Given the description of an element on the screen output the (x, y) to click on. 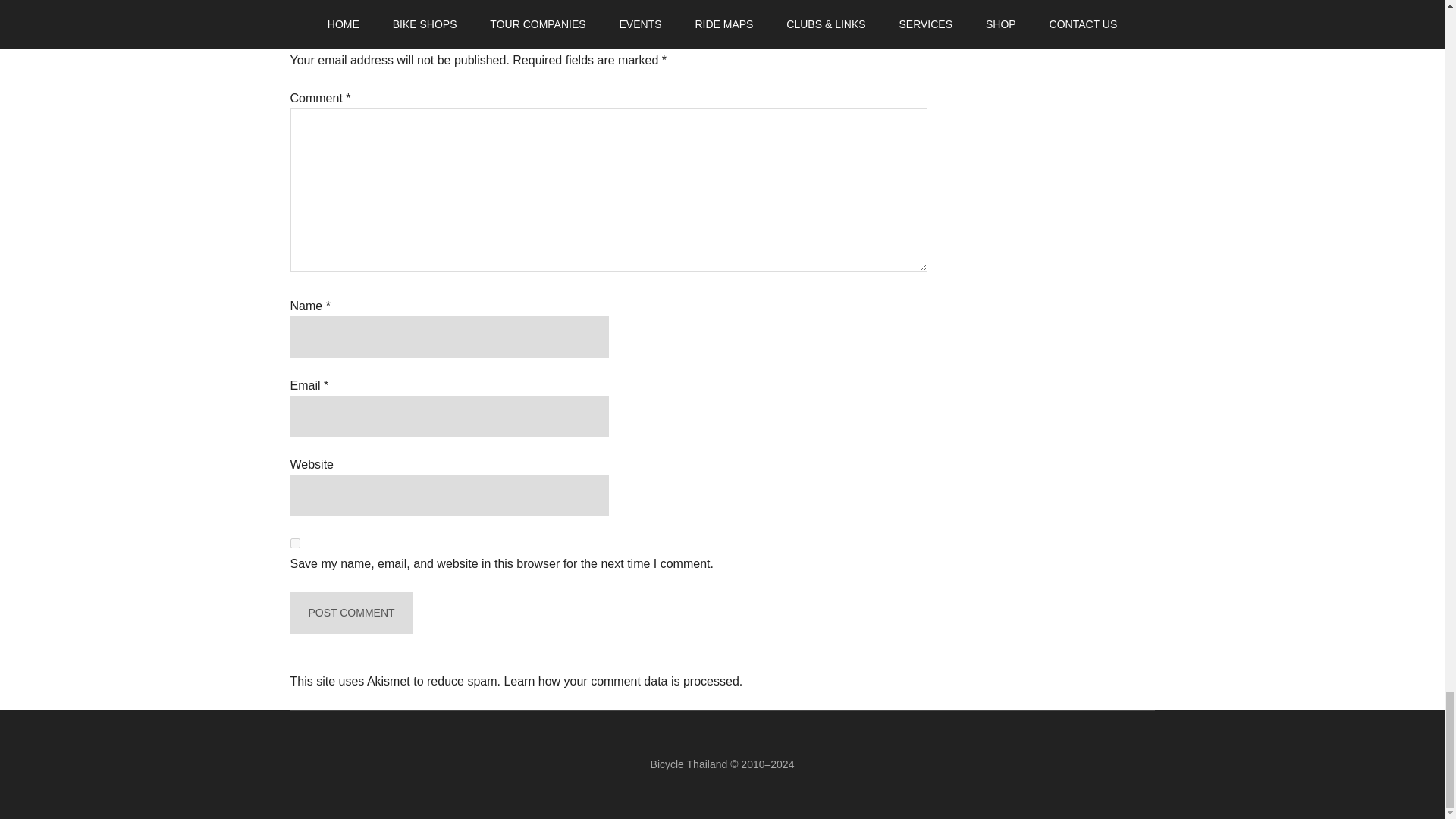
yes (294, 542)
Post Comment (350, 612)
